Given the description of an element on the screen output the (x, y) to click on. 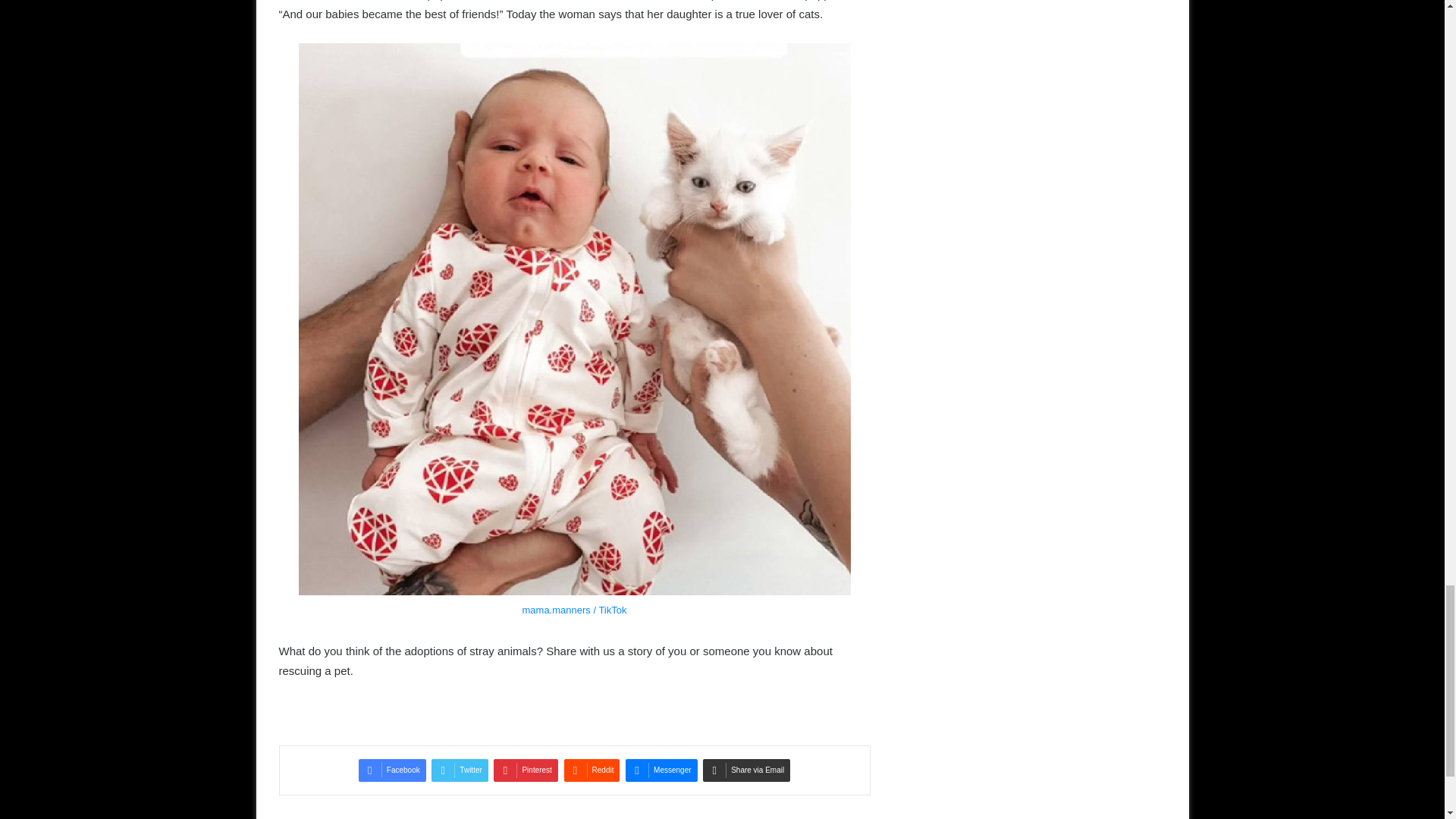
Messenger (661, 770)
Reddit (592, 770)
Share via Email (746, 770)
Twitter (458, 770)
Pinterest (525, 770)
Pinterest (525, 770)
Messenger (661, 770)
Twitter (458, 770)
Facebook (392, 770)
Reddit (592, 770)
